Given the description of an element on the screen output the (x, y) to click on. 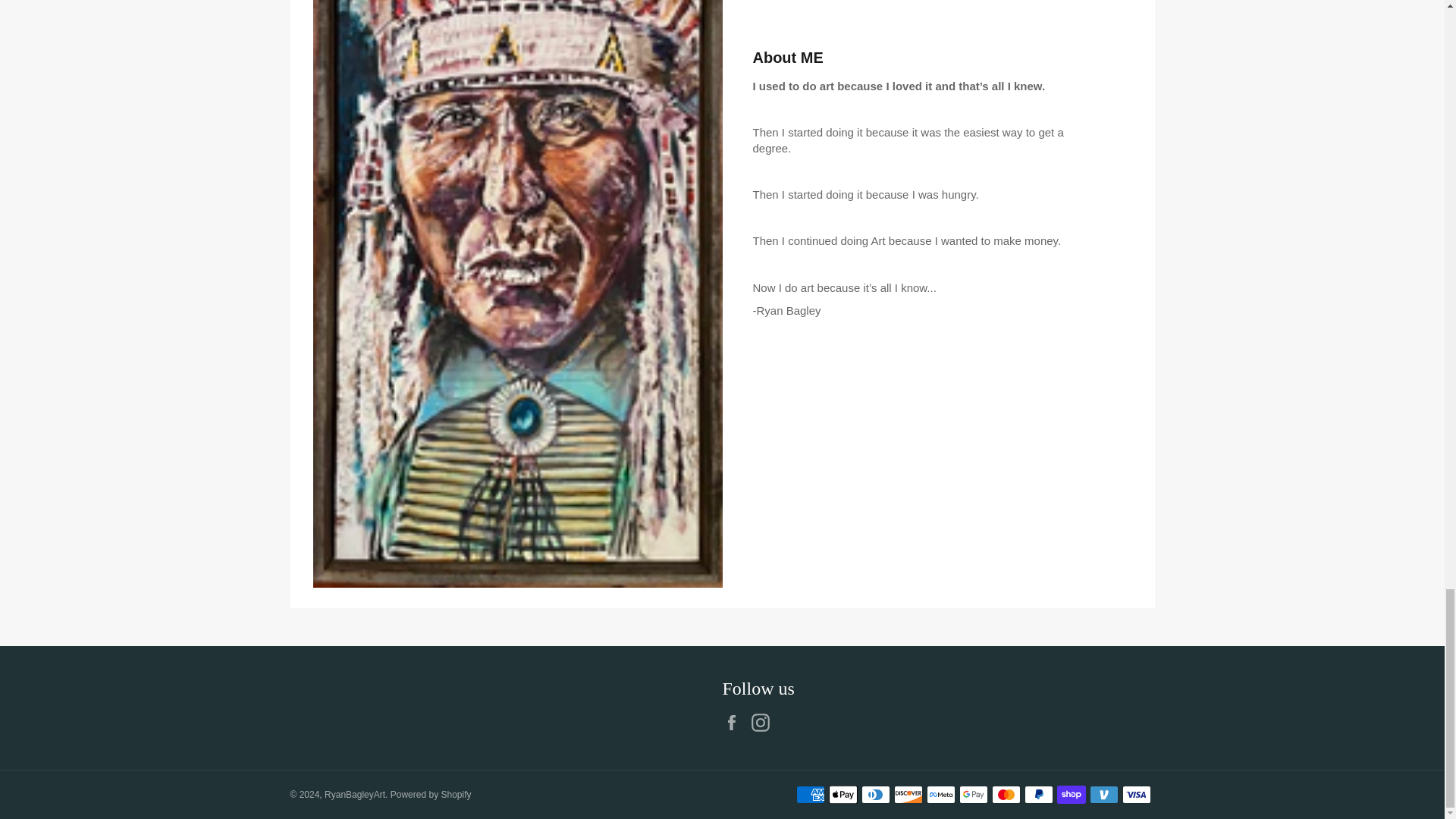
Facebook (735, 722)
RyanBagleyArt (354, 794)
RyanBagleyArt on Instagram (764, 722)
Instagram (764, 722)
RyanBagleyArt on Facebook (735, 722)
